Given the description of an element on the screen output the (x, y) to click on. 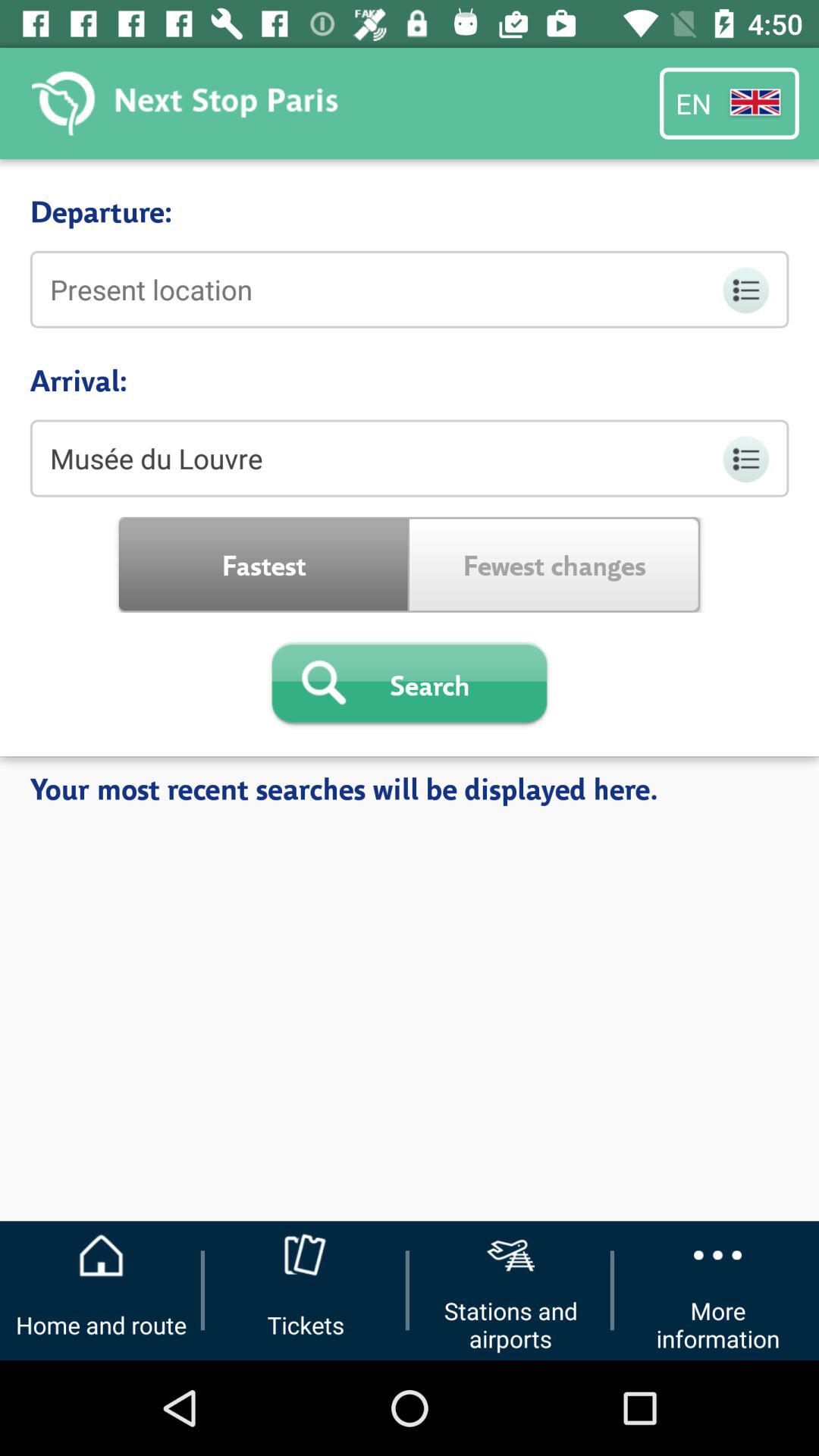
turn off the item to the left of the fewest changes icon (263, 564)
